Given the description of an element on the screen output the (x, y) to click on. 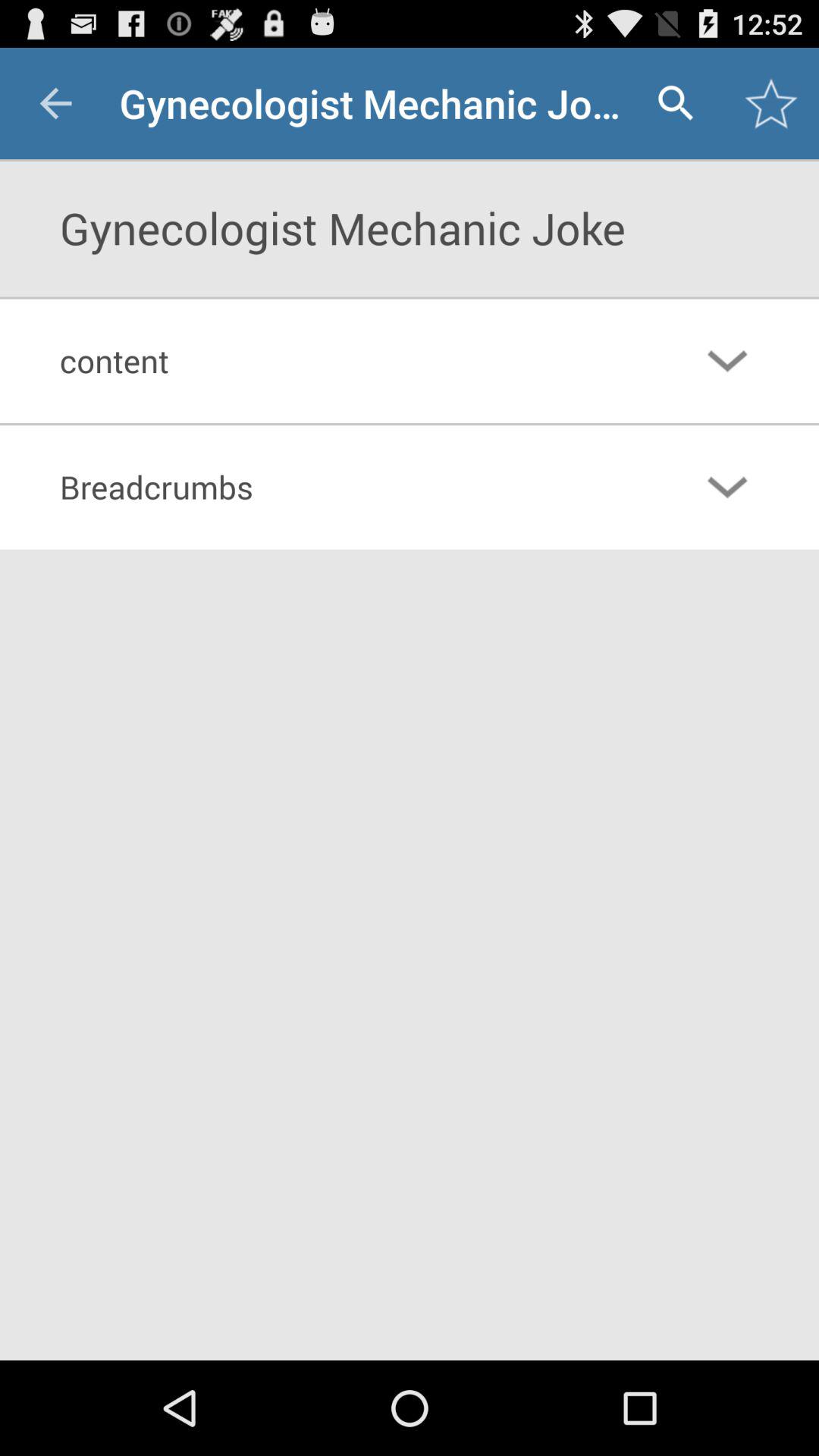
turn on the icon to the left of gynecologist mechanic joke icon (55, 103)
